Given the description of an element on the screen output the (x, y) to click on. 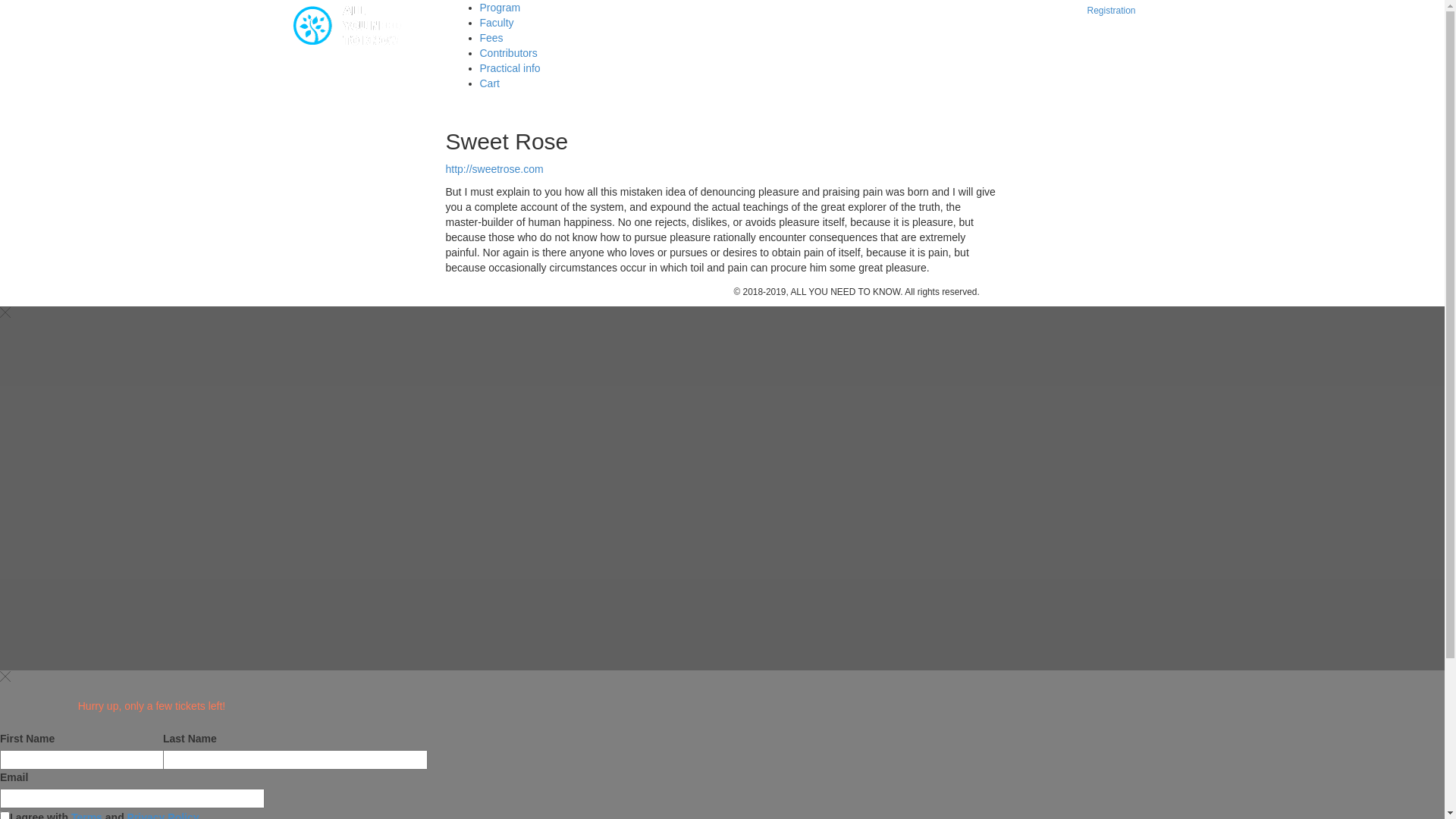
Contributors Element type: text (507, 53)
Practical info Element type: text (509, 68)
Fees Element type: text (490, 37)
Faculty Element type: text (496, 22)
Registration Element type: text (1110, 10)
Timelapse - Lighthouse (Oct 2012) Element type: hover (200, 435)
http://sweetrose.com Element type: text (494, 169)
Cart Element type: text (488, 83)
Program Element type: text (499, 7)
